Given the description of an element on the screen output the (x, y) to click on. 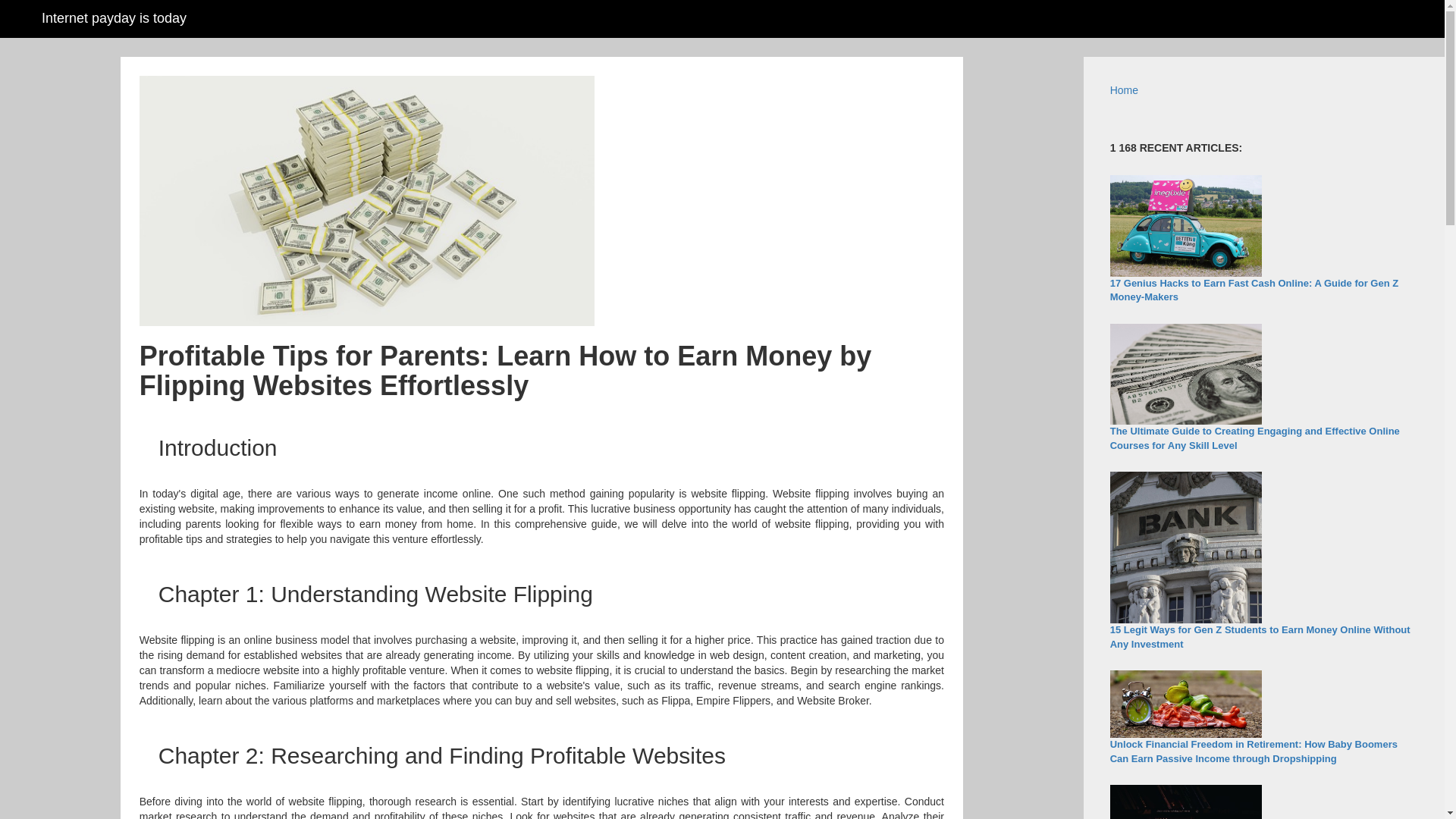
Home (1123, 90)
